Given the description of an element on the screen output the (x, y) to click on. 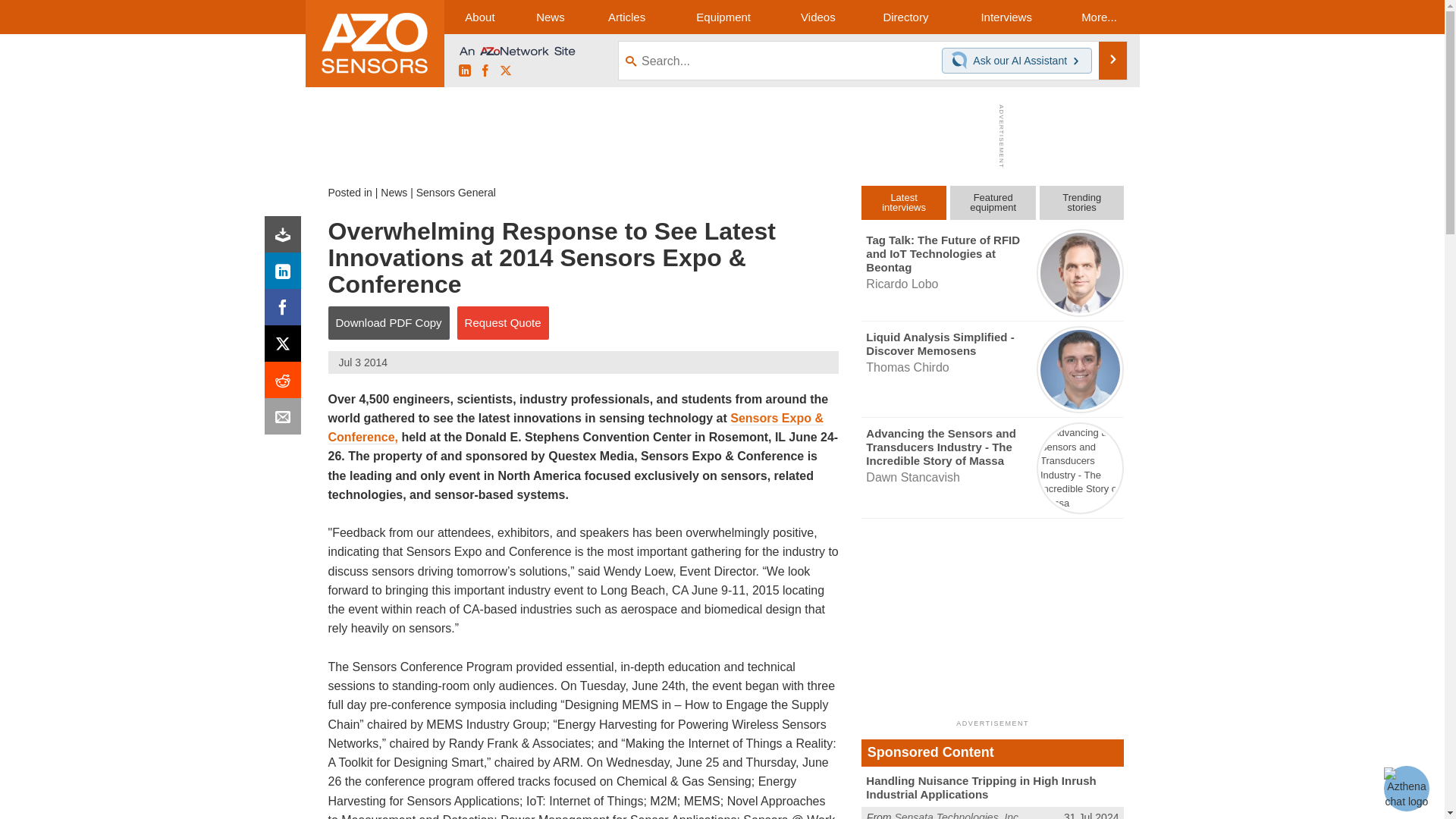
Download PDF copy (285, 238)
Interviews (1006, 17)
Articles (626, 17)
News (550, 17)
X (505, 71)
LinkedIn (285, 275)
LinkedIn (464, 71)
Directory (905, 17)
X (285, 348)
Reddit (285, 384)
Facebook (485, 71)
Equipment (723, 17)
Chat with our AI Assistant (962, 60)
Download PDF Copy (387, 322)
